Given the description of an element on the screen output the (x, y) to click on. 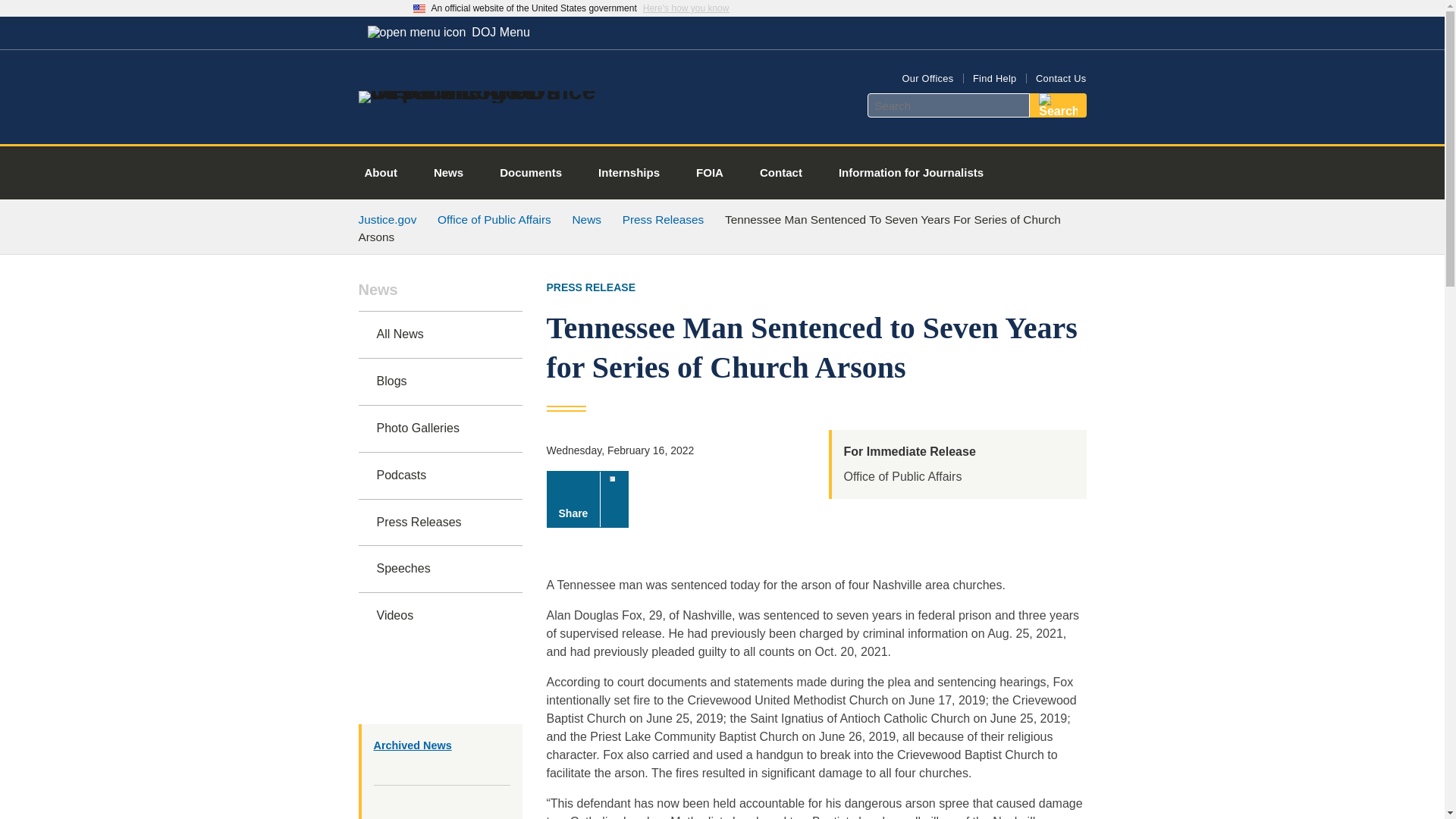
News (439, 296)
Press Releases (439, 522)
Justice.gov (387, 219)
News (447, 172)
Home (481, 90)
Podcasts (439, 475)
FOIA (709, 172)
Press Releases (663, 219)
DOJ Menu (448, 32)
Our Offices (927, 78)
Office of Public Affairs (494, 219)
Find Help (994, 78)
Documents (530, 172)
Photo Galleries (439, 428)
Blogs (439, 381)
